Given the description of an element on the screen output the (x, y) to click on. 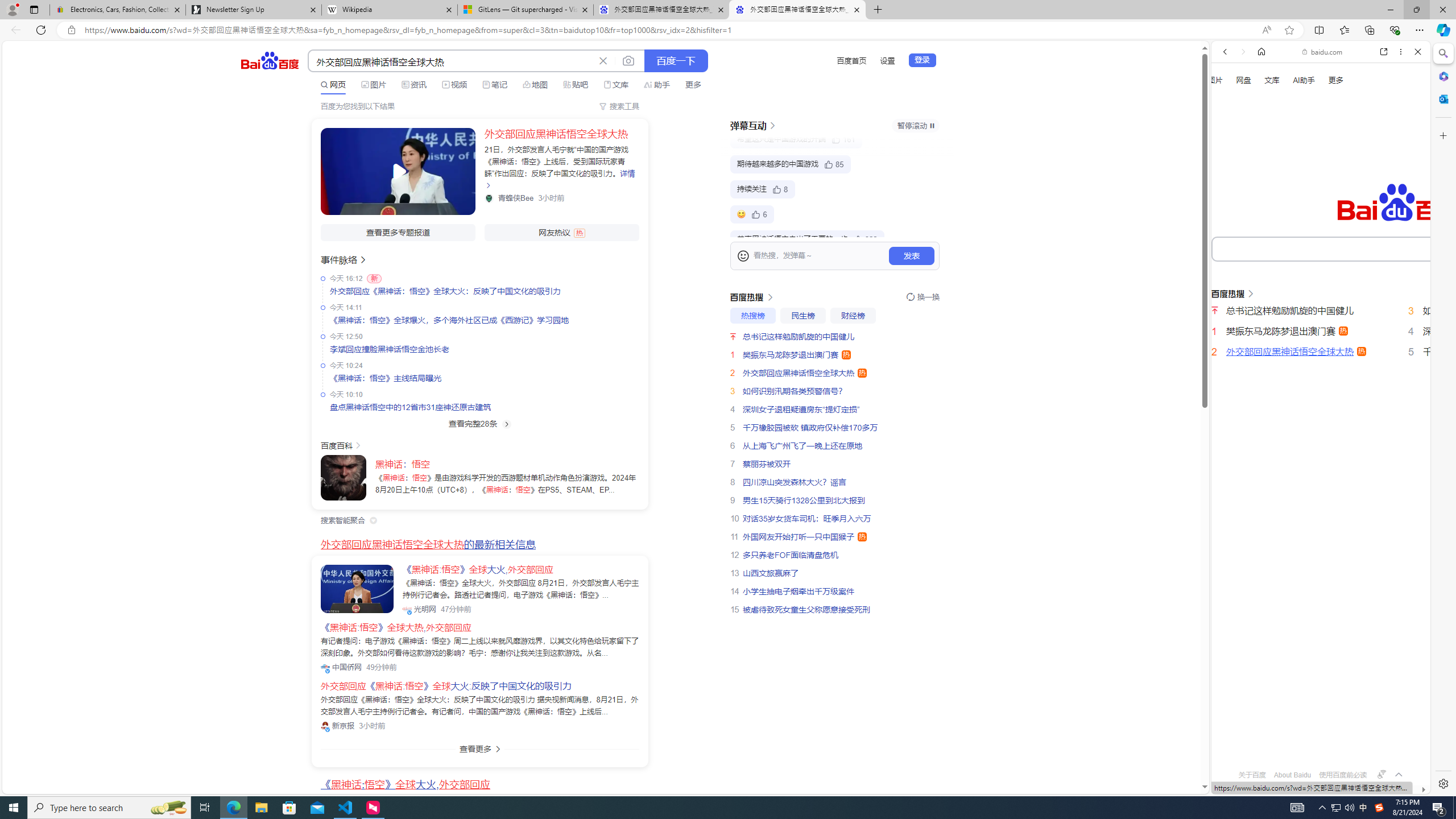
English (Uk) (1320, 353)
Class: c-img c-img-radius-large (356, 589)
